Given the description of an element on the screen output the (x, y) to click on. 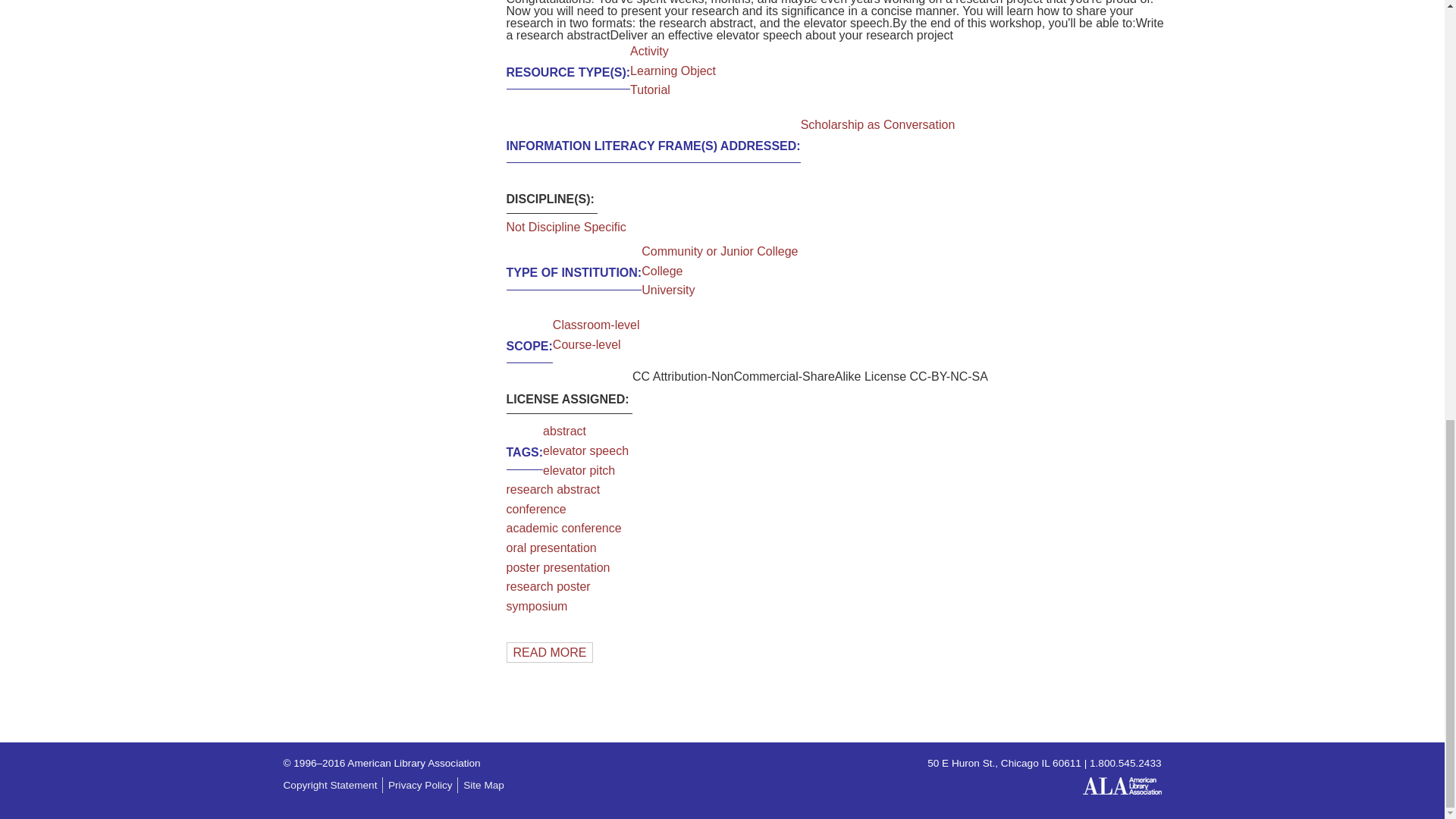
Learning Object (673, 70)
Not Discipline Specific (566, 227)
Activity (649, 51)
Scholarship as Conversation (877, 124)
Tutorial (649, 89)
Sharing Your Research (550, 652)
